Given the description of an element on the screen output the (x, y) to click on. 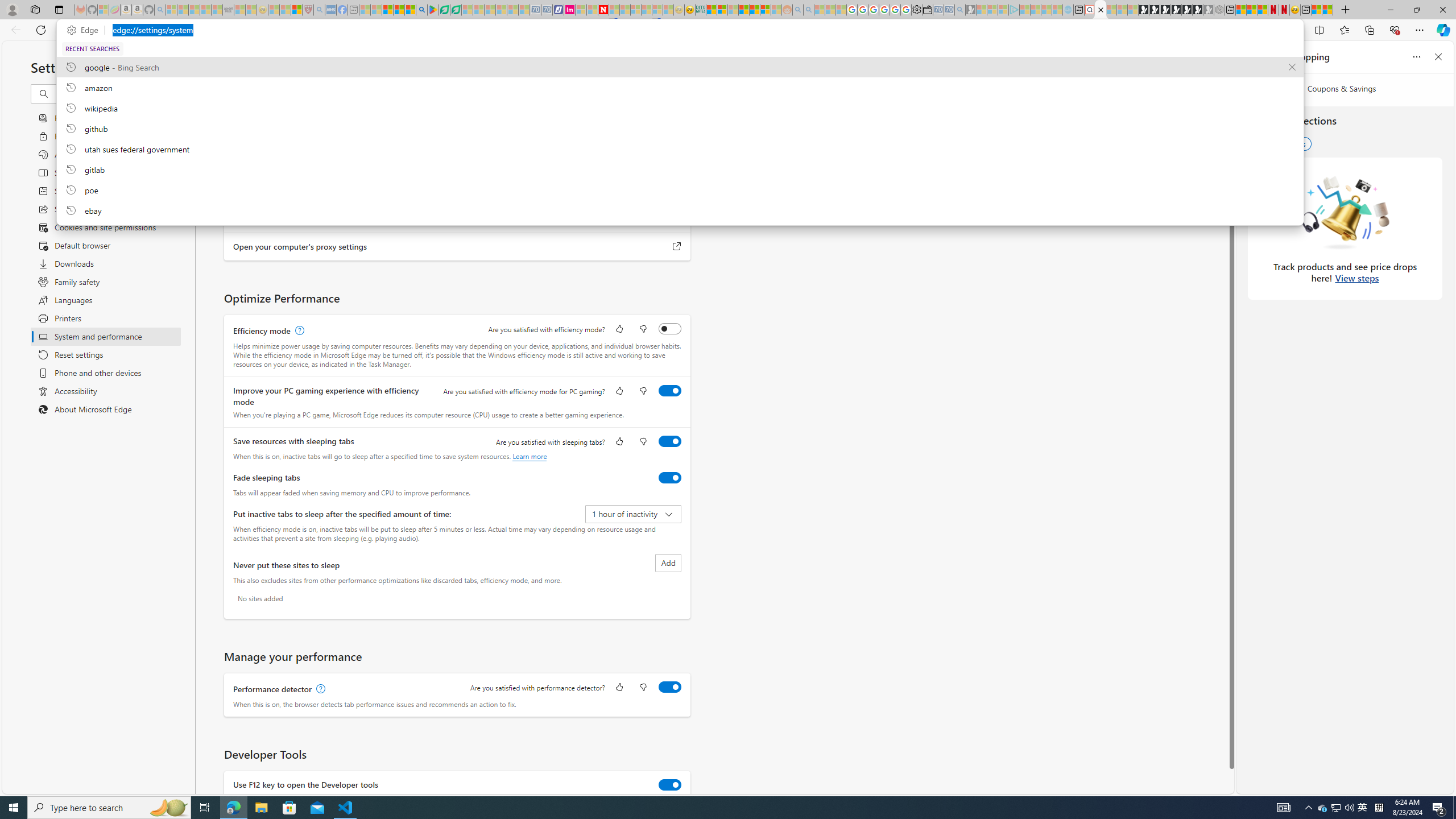
Improve your PC gaming experience with efficiency mode (669, 390)
Wildlife - MSN (1316, 9)
Edge (84, 29)
Startup boost (669, 98)
